Given the description of an element on the screen output the (x, y) to click on. 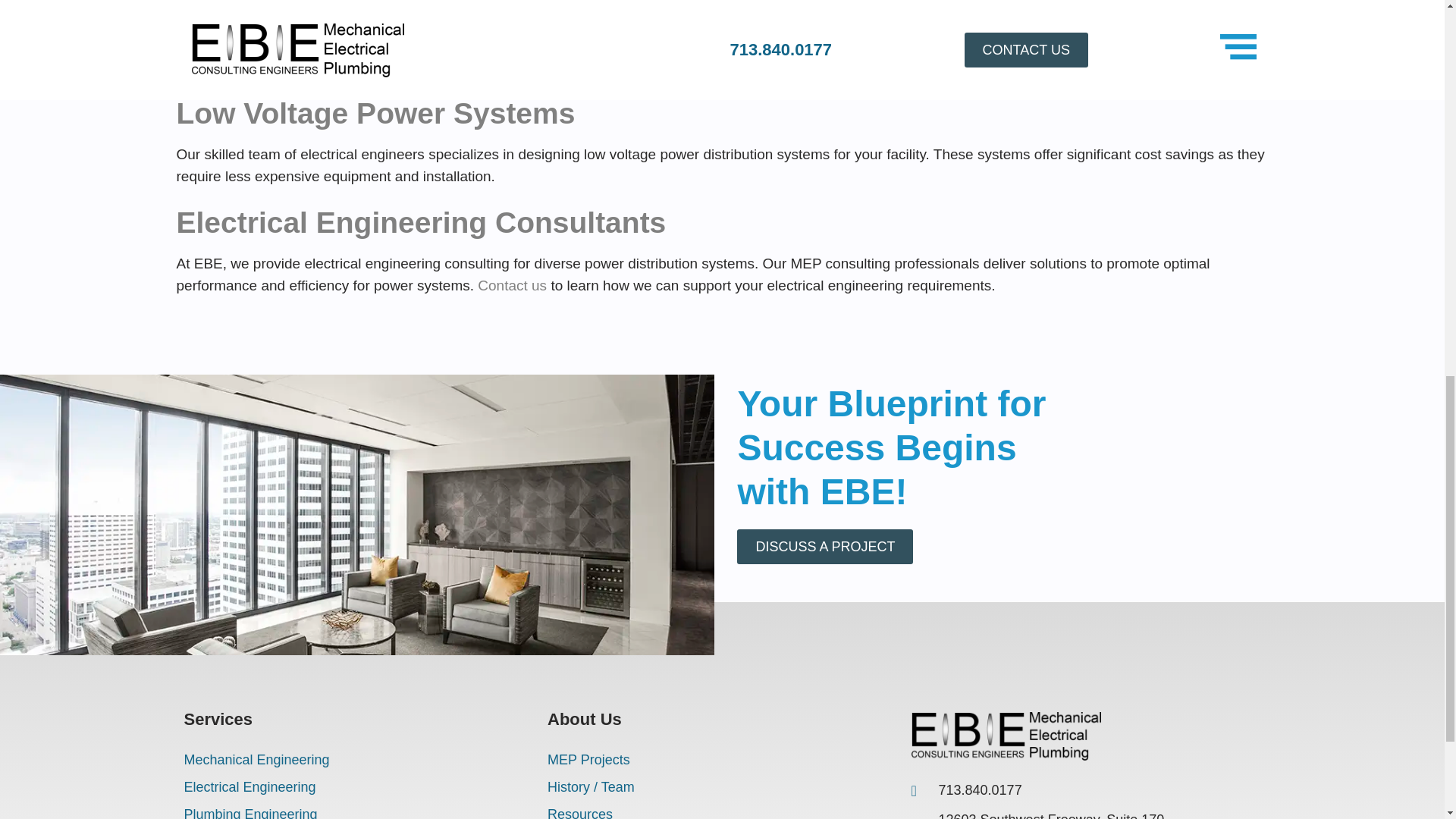
713.840.0177 (1040, 790)
Contact us (512, 285)
Mechanical Engineering (357, 759)
DISCUSS A PROJECT (824, 546)
Electrical Engineering (357, 786)
Plumbing Engineering (357, 809)
Resources (721, 809)
MEP Projects (721, 759)
12603 Southwest Freeway, Suite 170 Stafford, TX 77477 (1040, 814)
